Given the description of an element on the screen output the (x, y) to click on. 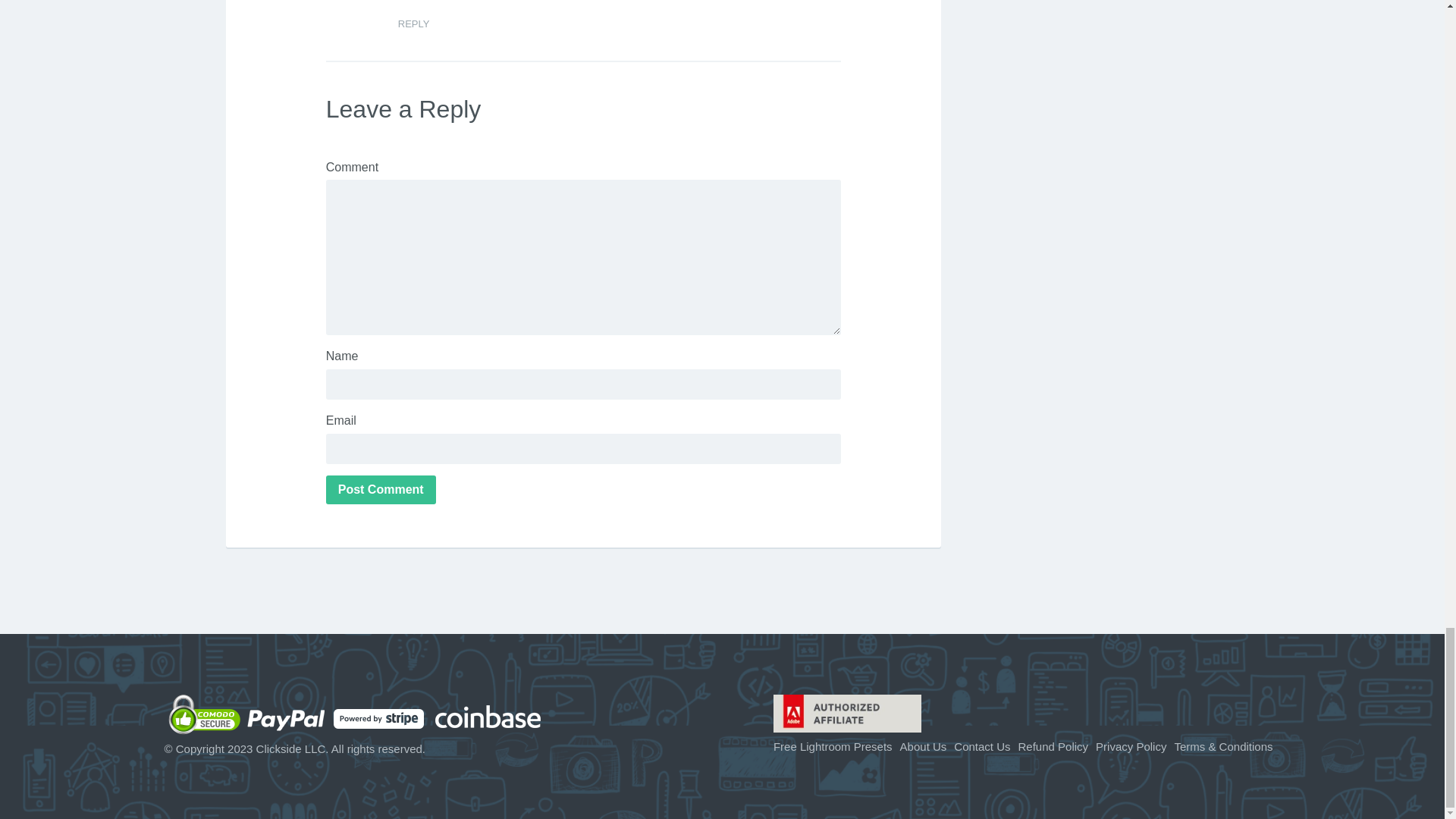
Post Comment (380, 489)
REPLY (413, 23)
Post Comment (380, 489)
